Given the description of an element on the screen output the (x, y) to click on. 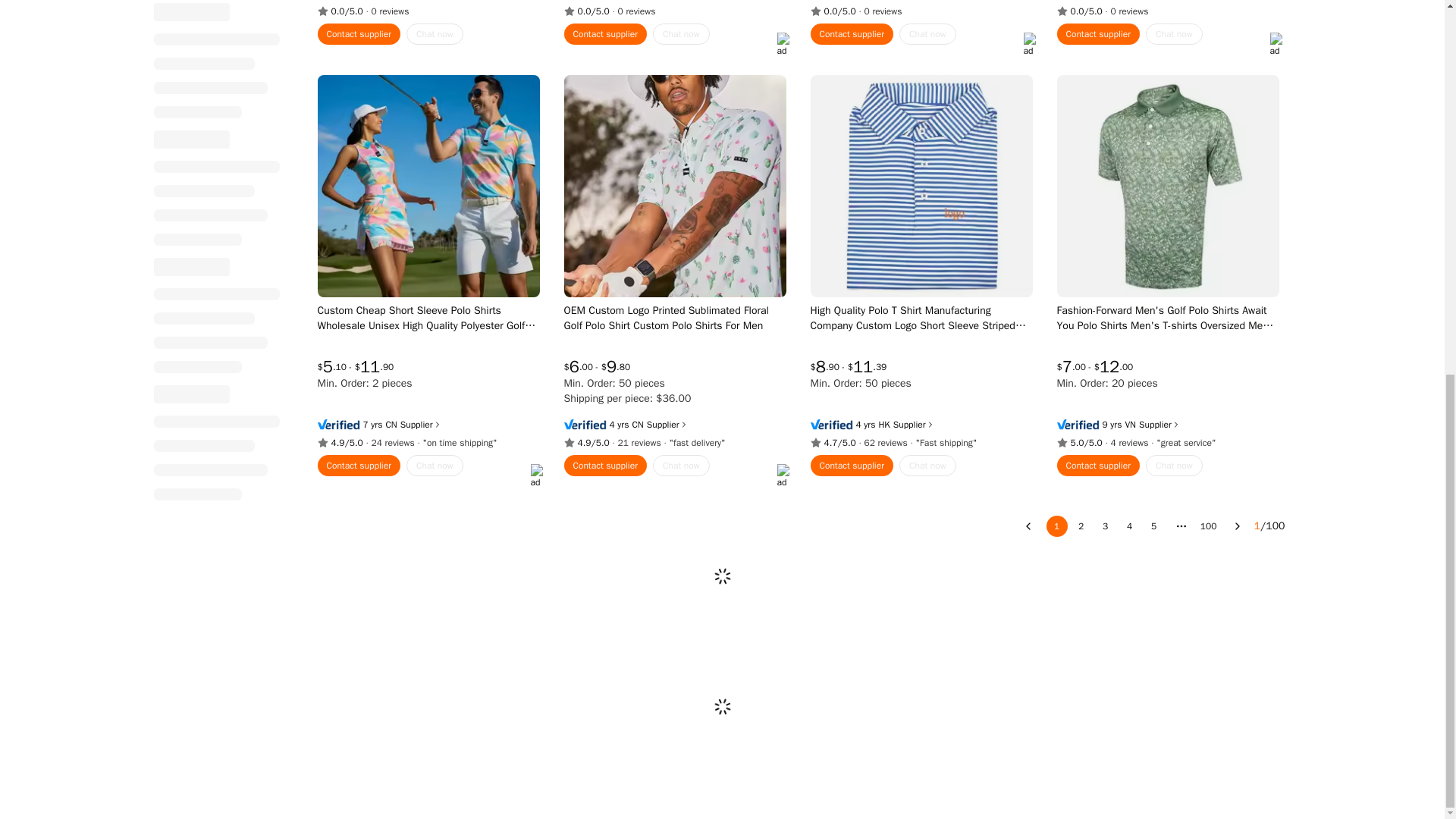
Chat now (434, 34)
Chat now (927, 34)
HGF MANUFACTURING AND TRADING JOINT STOCK COMPANY (1129, 424)
Guangzhou Joyord Sportswear Co., Ltd. (390, 424)
Chat now (681, 34)
Contact supplier (605, 34)
Shenzhen Qiandao Apparel Co.,ltd. (637, 424)
Contact supplier (851, 34)
Contact supplier (358, 34)
